Given the description of an element on the screen output the (x, y) to click on. 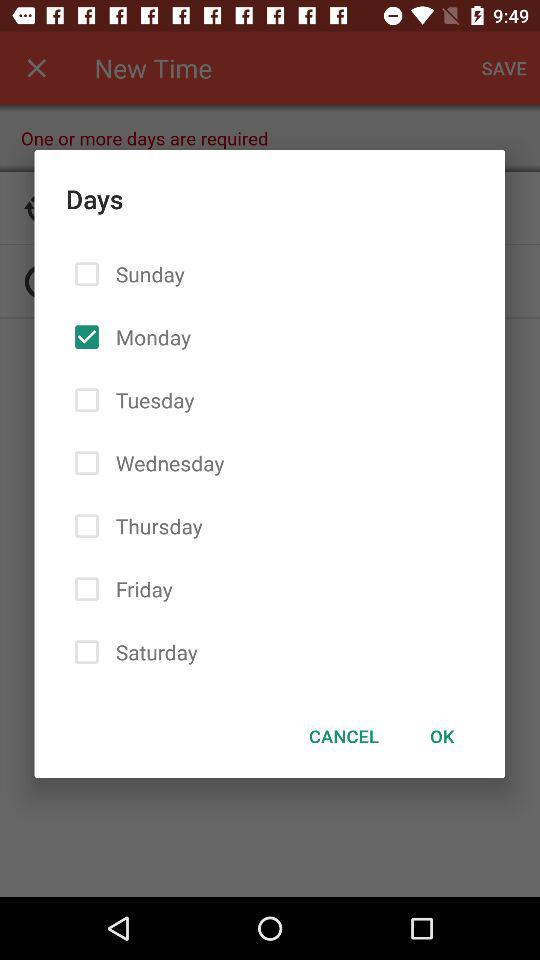
swipe until the saturday (152, 651)
